Given the description of an element on the screen output the (x, y) to click on. 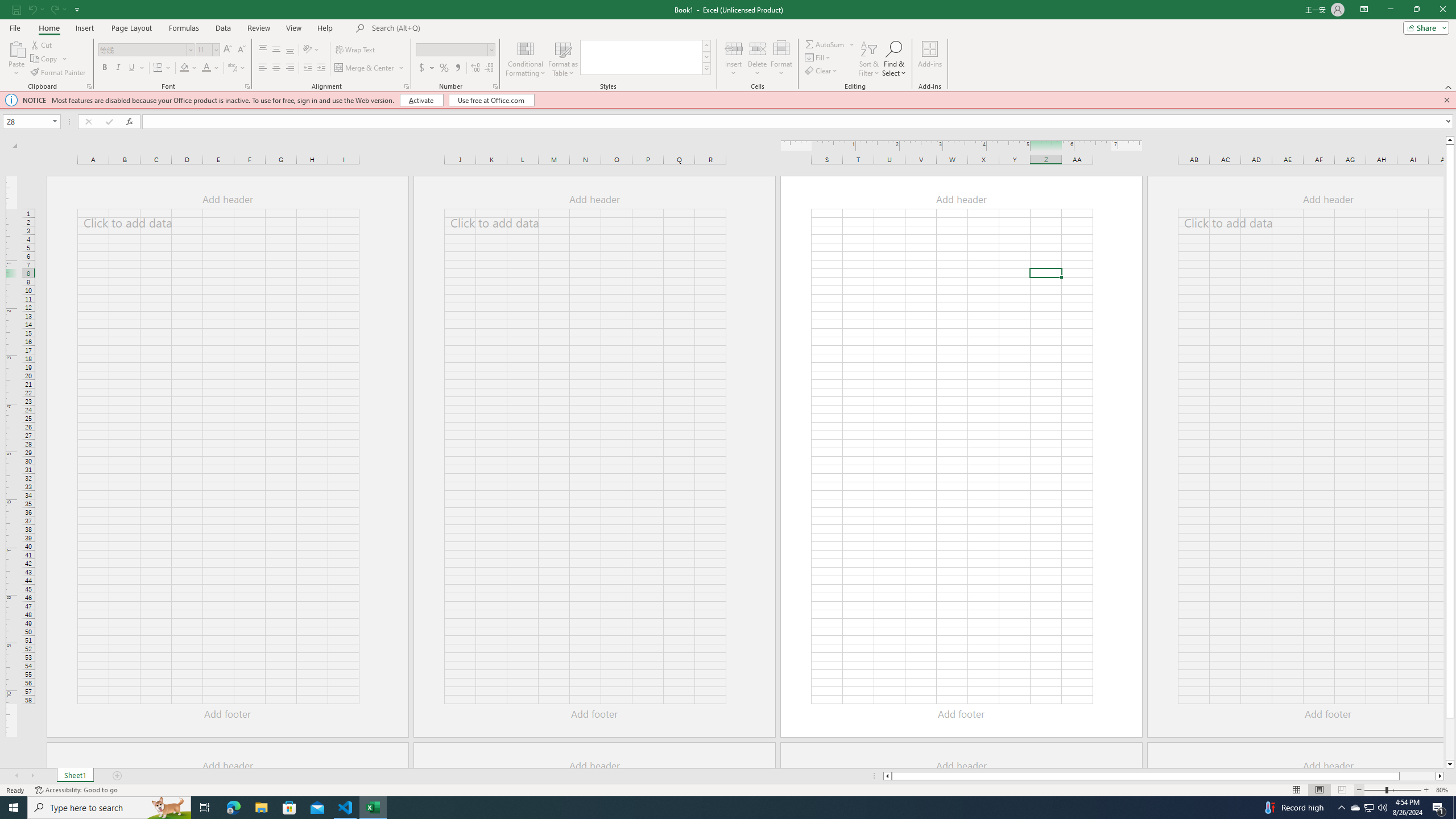
Use free at Office.com (491, 100)
Find & Select (893, 58)
Orientation (311, 49)
AutomationID: CellStylesGallery (645, 57)
Activate (422, 100)
Sort & Filter (868, 58)
